Given the description of an element on the screen output the (x, y) to click on. 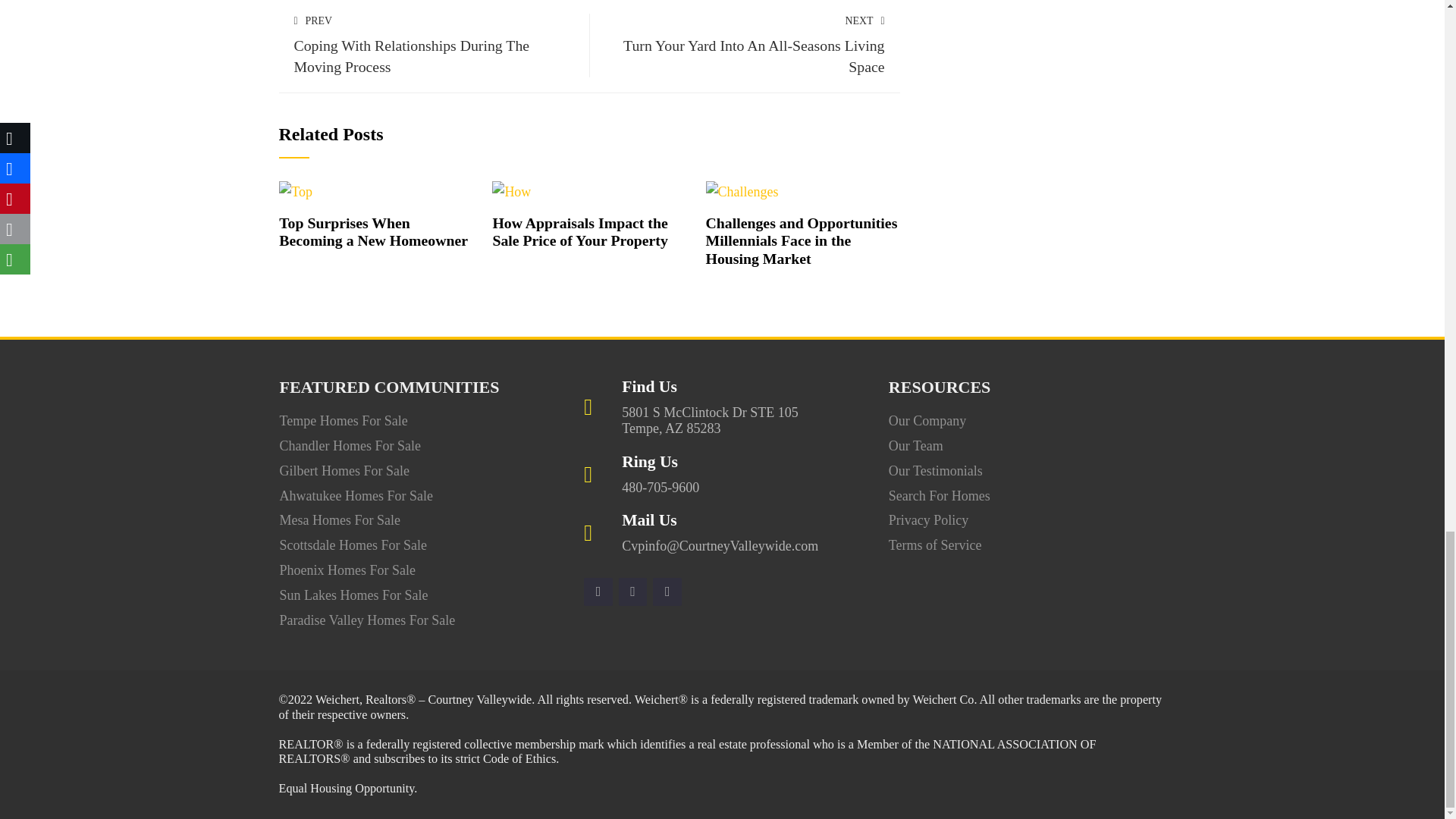
Ahwatukee Homes For Sale (355, 495)
Gilbert Homes For Sale (344, 470)
Paradise Valley Homes For Sale (367, 620)
Mesa Homes For Sale (339, 519)
Top Surprises When Becoming a New Homeowner (373, 231)
Chandler Homes For Sale (349, 445)
Scottsdale Homes For Sale (434, 44)
How Appraisals Impact the Sale Price of Your Property (352, 544)
Phoenix Homes For Sale (745, 44)
Top Surprises When Becoming a New Homeowner (579, 231)
